Given the description of an element on the screen output the (x, y) to click on. 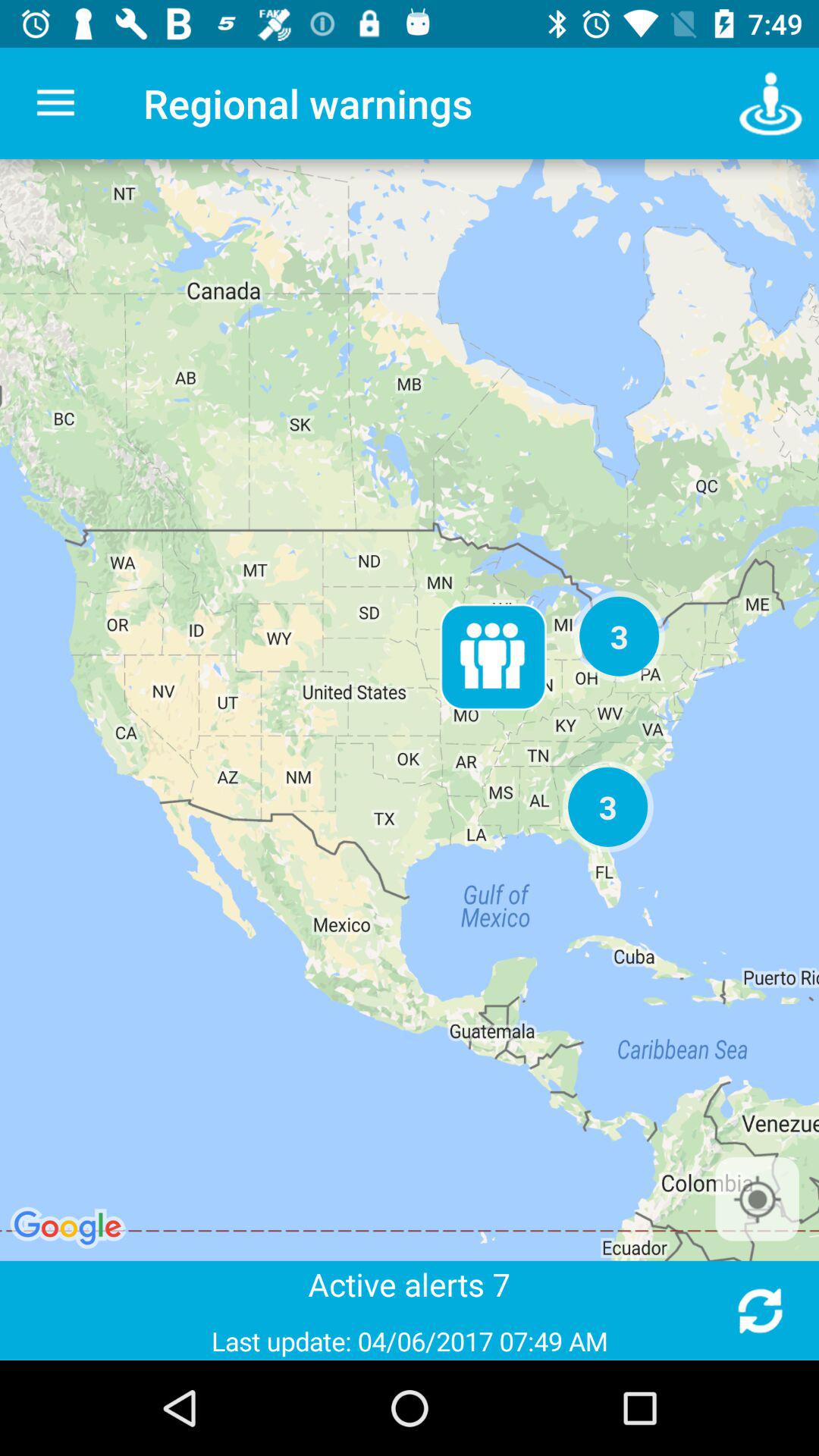
receiving location data from gps (757, 1199)
